Given the description of an element on the screen output the (x, y) to click on. 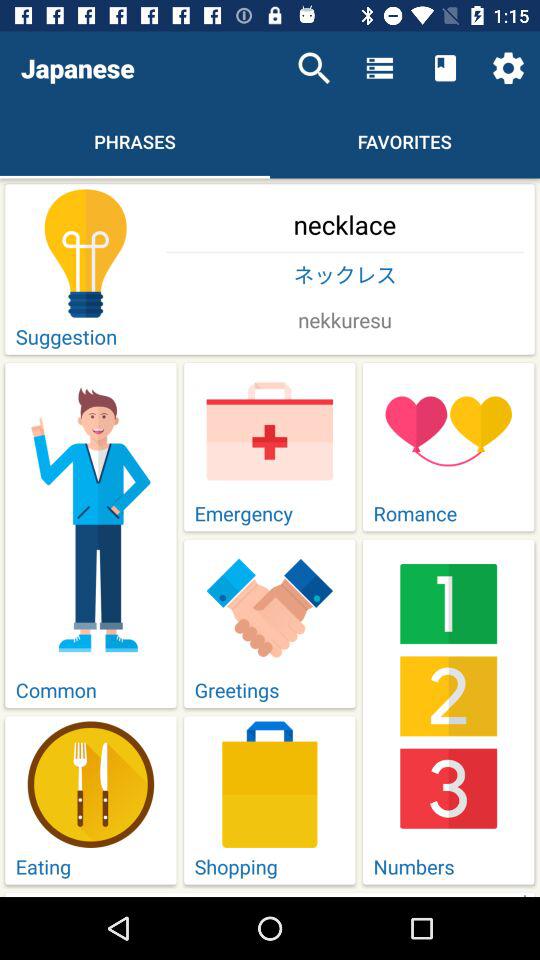
launch the item to the right of the japanese item (313, 67)
